Given the description of an element on the screen output the (x, y) to click on. 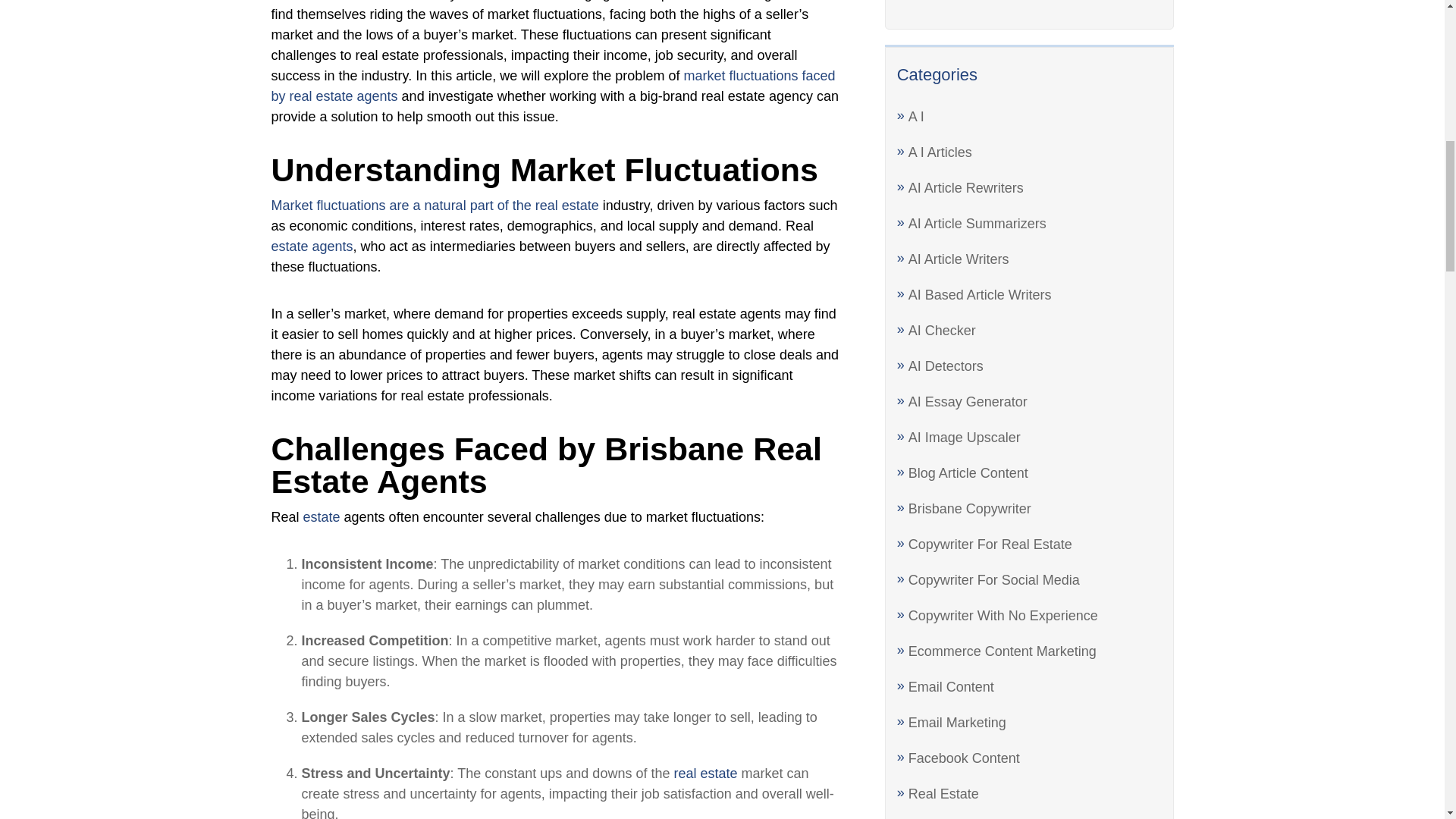
estate agents (311, 246)
real estate (704, 773)
market fluctuations faced by real estate agents (552, 85)
estate (321, 516)
A I (916, 116)
Market fluctuations are a natural part of the real estate (434, 205)
A I Articles (940, 151)
